Given the description of an element on the screen output the (x, y) to click on. 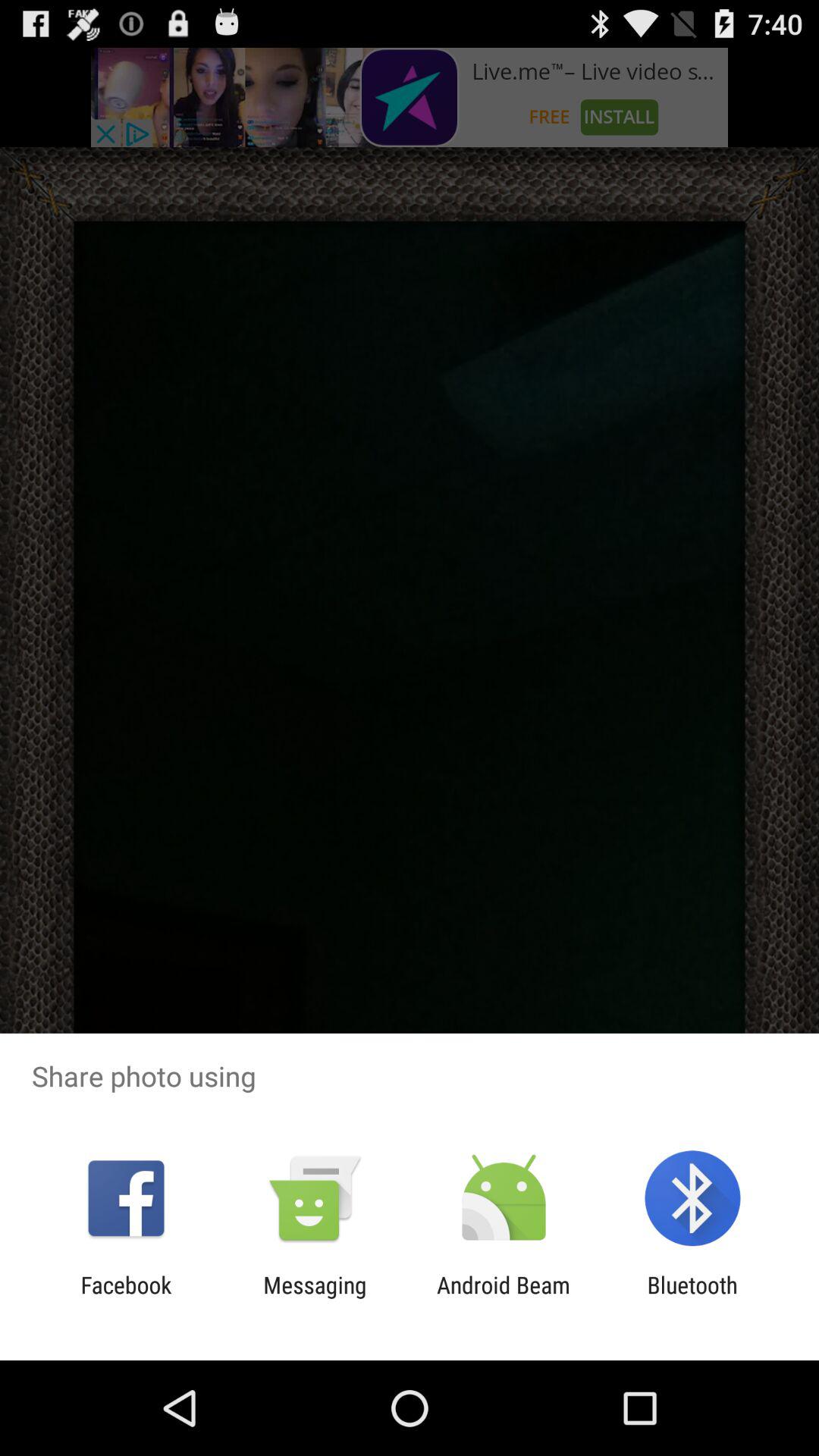
select icon next to the android beam app (314, 1298)
